Given the description of an element on the screen output the (x, y) to click on. 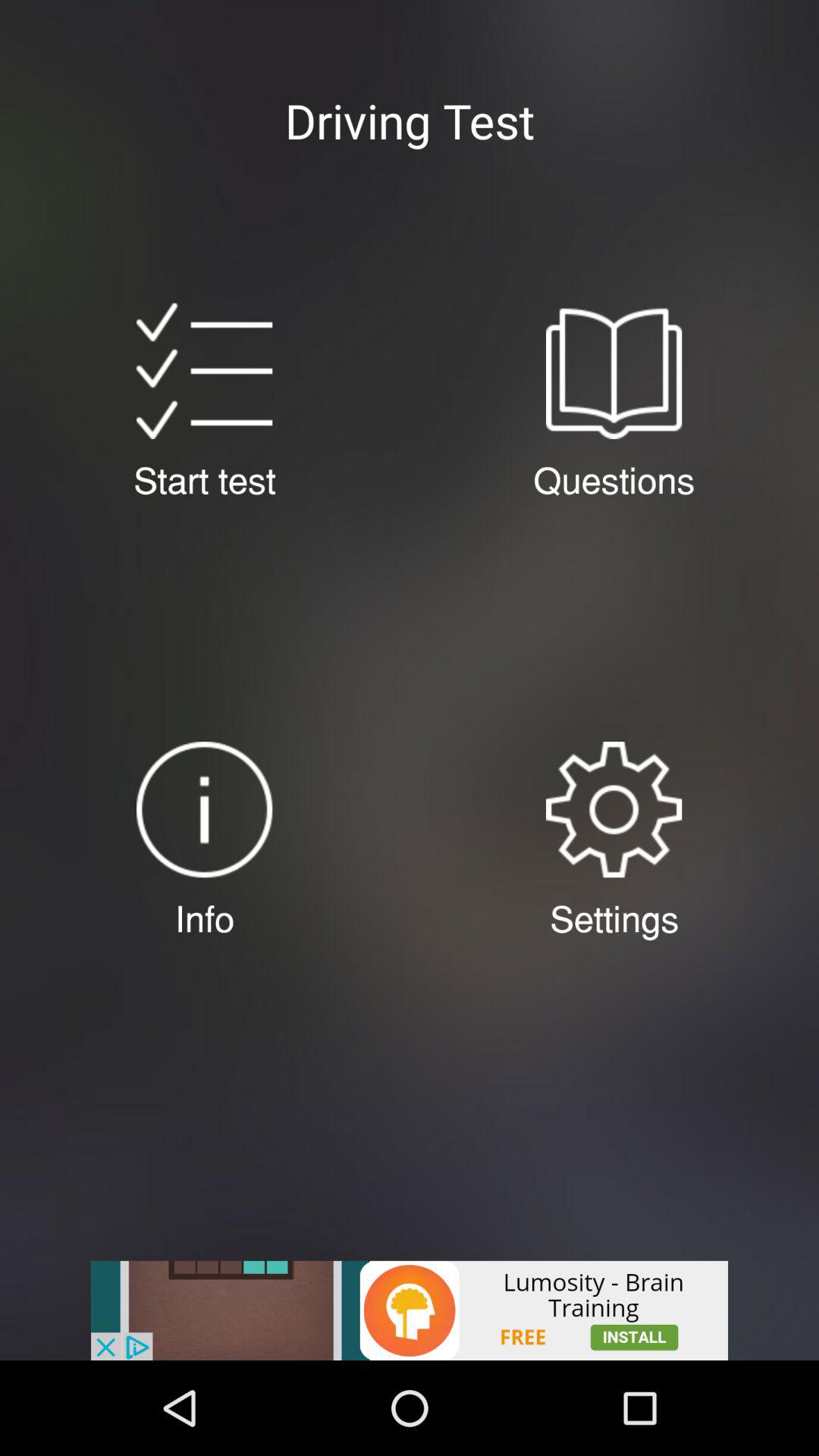
settings option (613, 809)
